Given the description of an element on the screen output the (x, y) to click on. 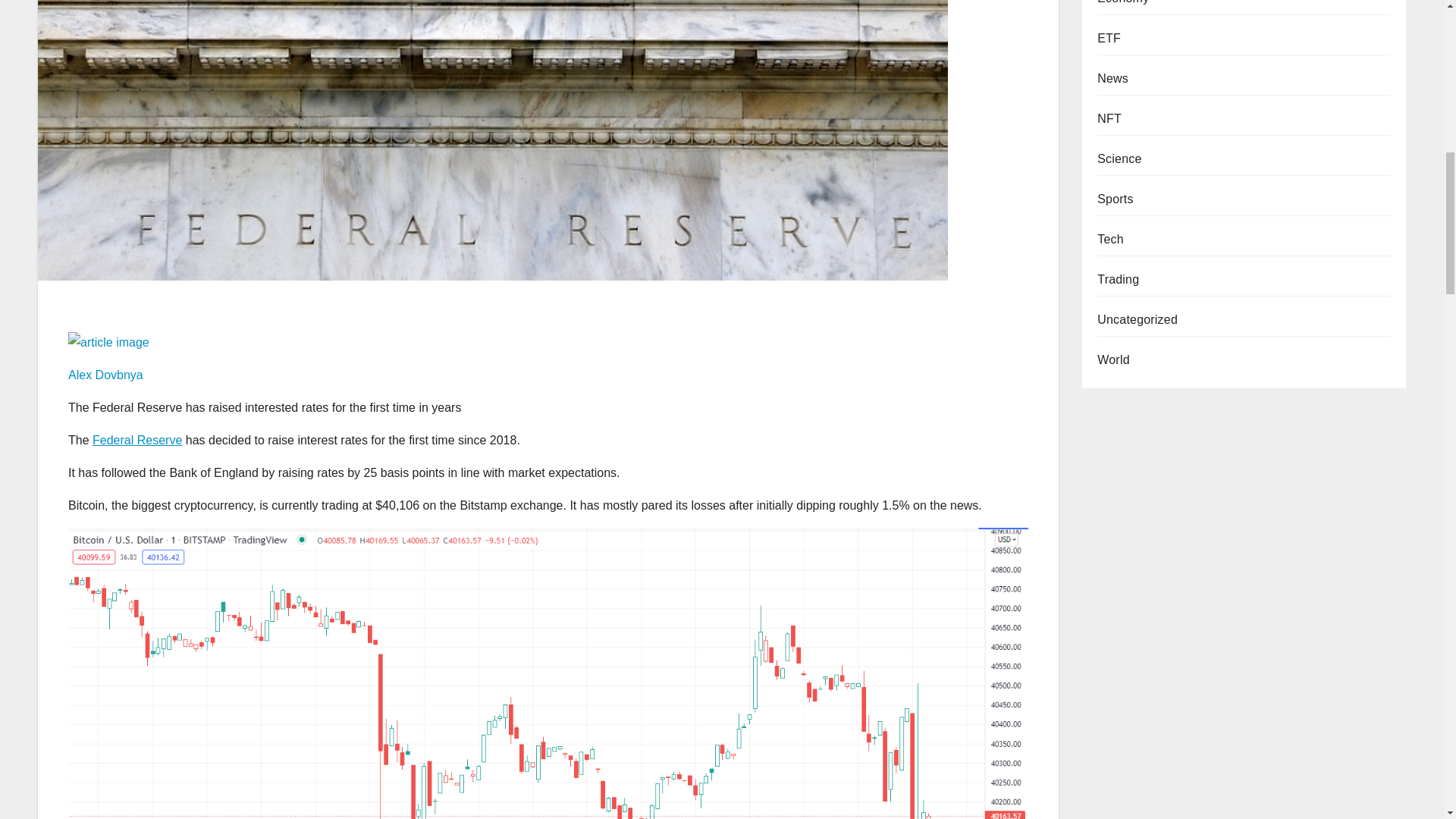
Alex Dovbnya (105, 374)
Federal Reserve (137, 440)
